Given the description of an element on the screen output the (x, y) to click on. 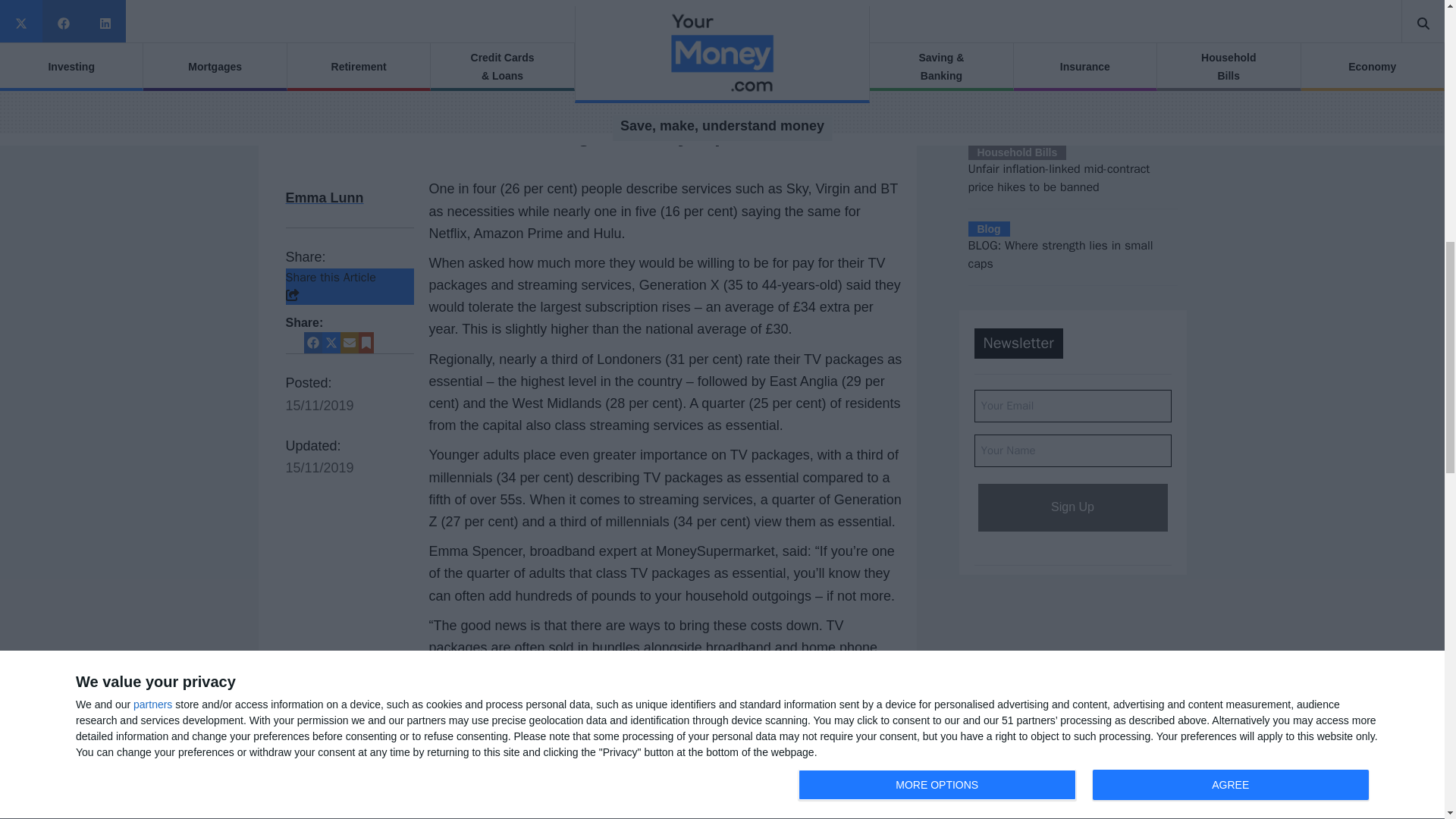
Sign Up (1072, 507)
